Given the description of an element on the screen output the (x, y) to click on. 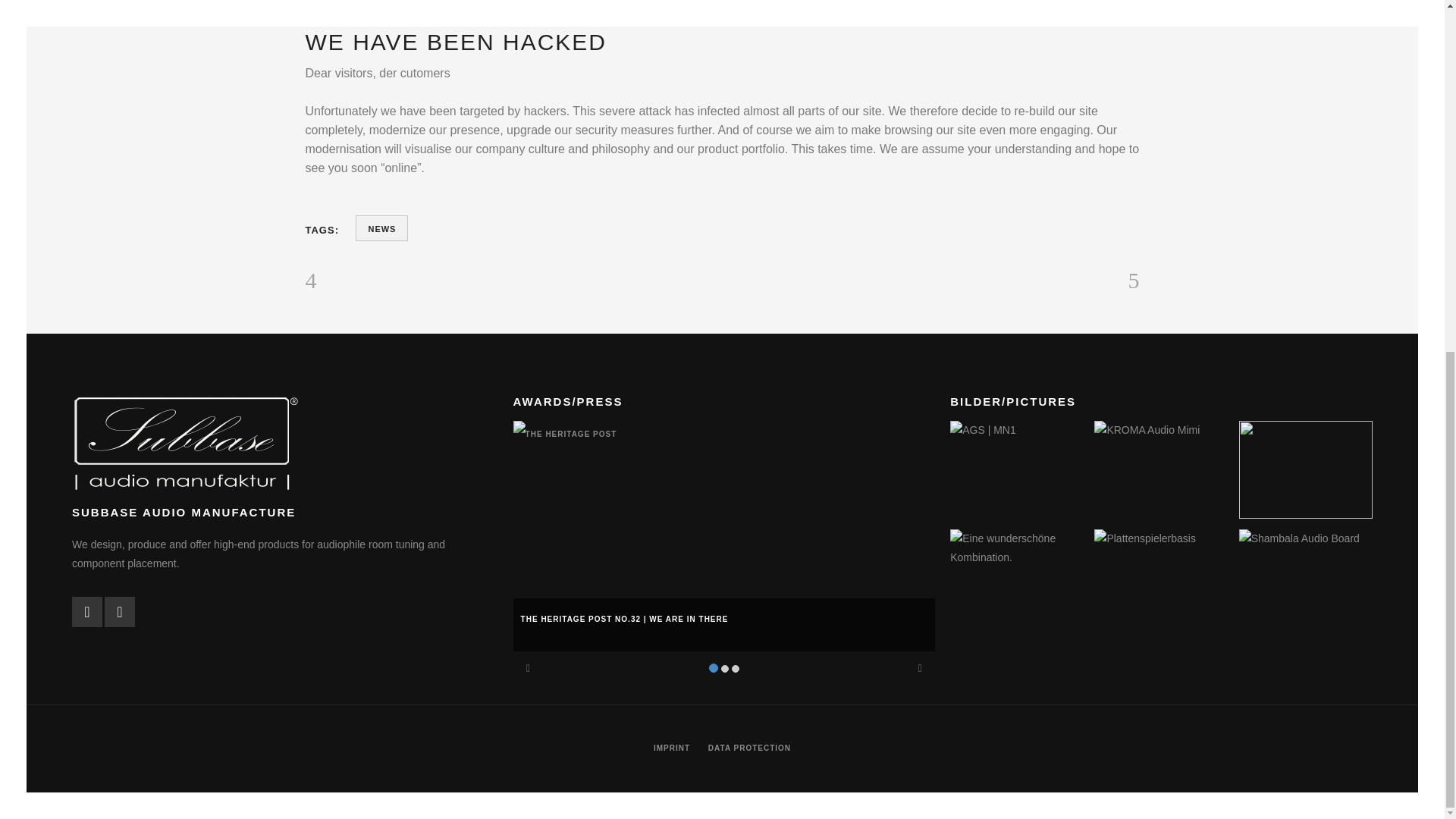
DATA PROTECTION (748, 747)
NEWS (381, 227)
IMPRINT (671, 747)
News (397, 2)
Subbase Audio (467, 2)
